Given the description of an element on the screen output the (x, y) to click on. 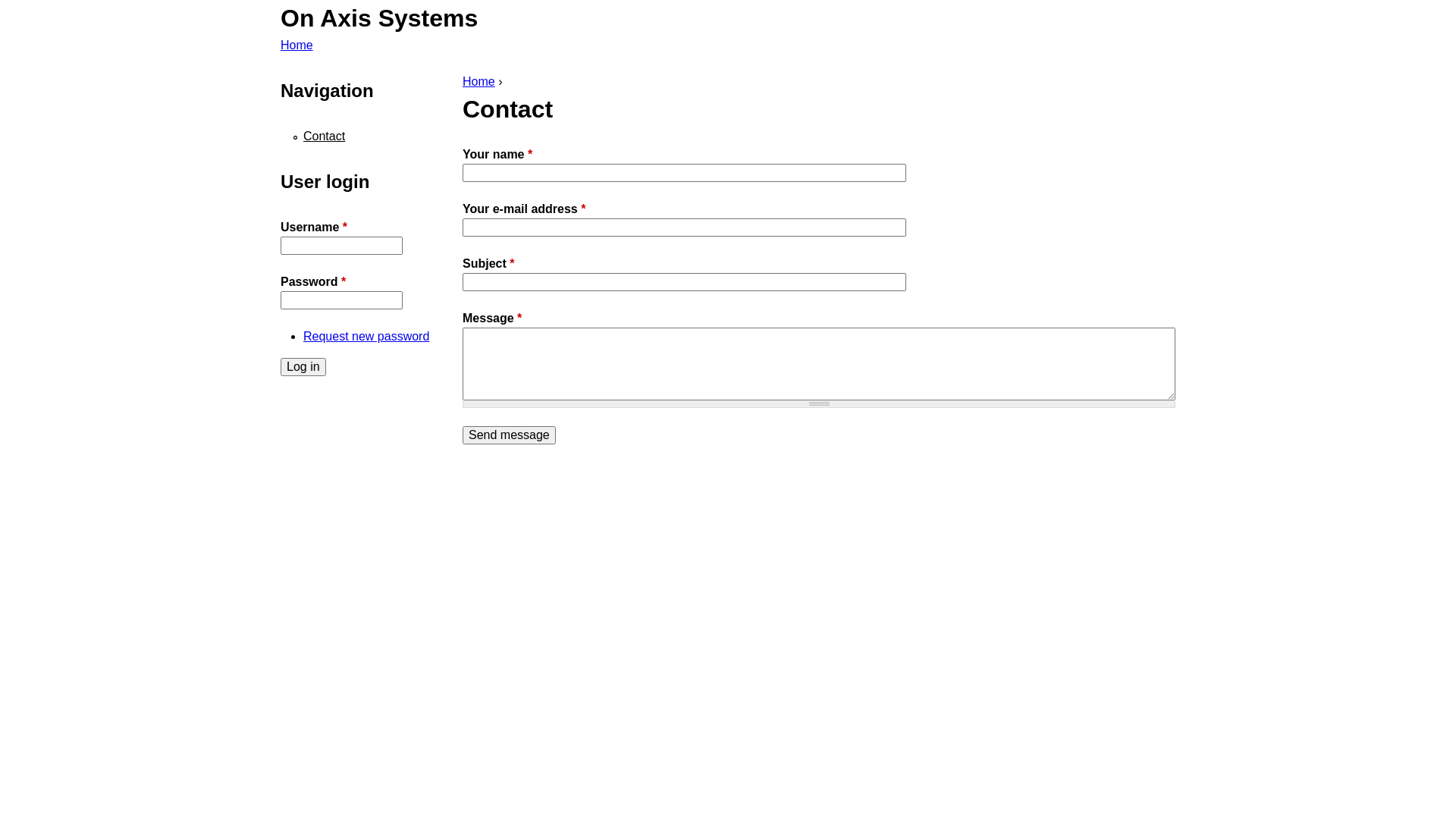
On Axis Systems Element type: text (378, 17)
Home Element type: text (296, 44)
Log in Element type: text (303, 366)
Send message Element type: text (508, 435)
Home Element type: text (478, 81)
Request new password Element type: text (366, 335)
Contact Element type: text (324, 135)
